Given the description of an element on the screen output the (x, y) to click on. 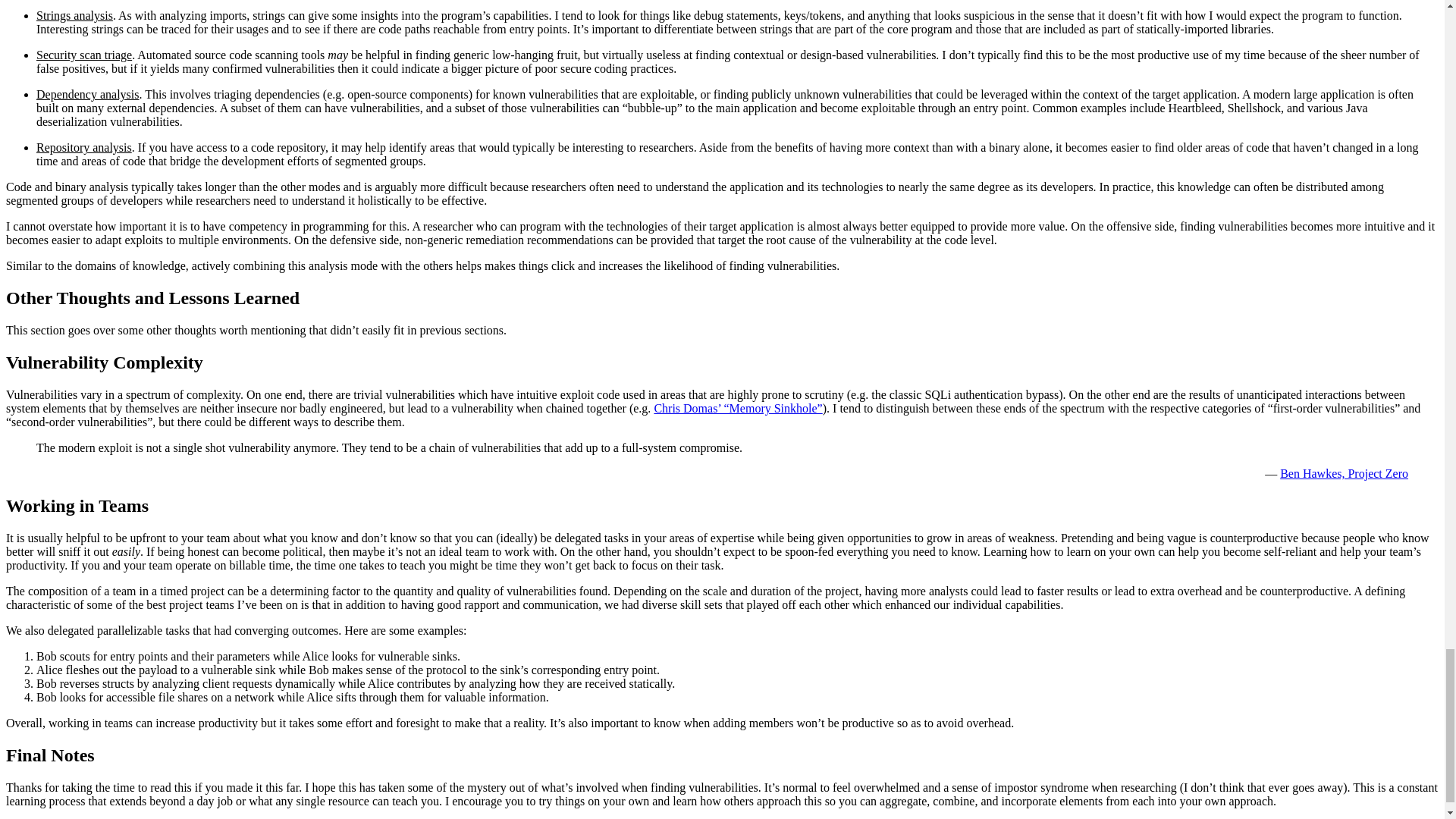
Ben Hawkes, Project Zero (1343, 472)
